Given the description of an element on the screen output the (x, y) to click on. 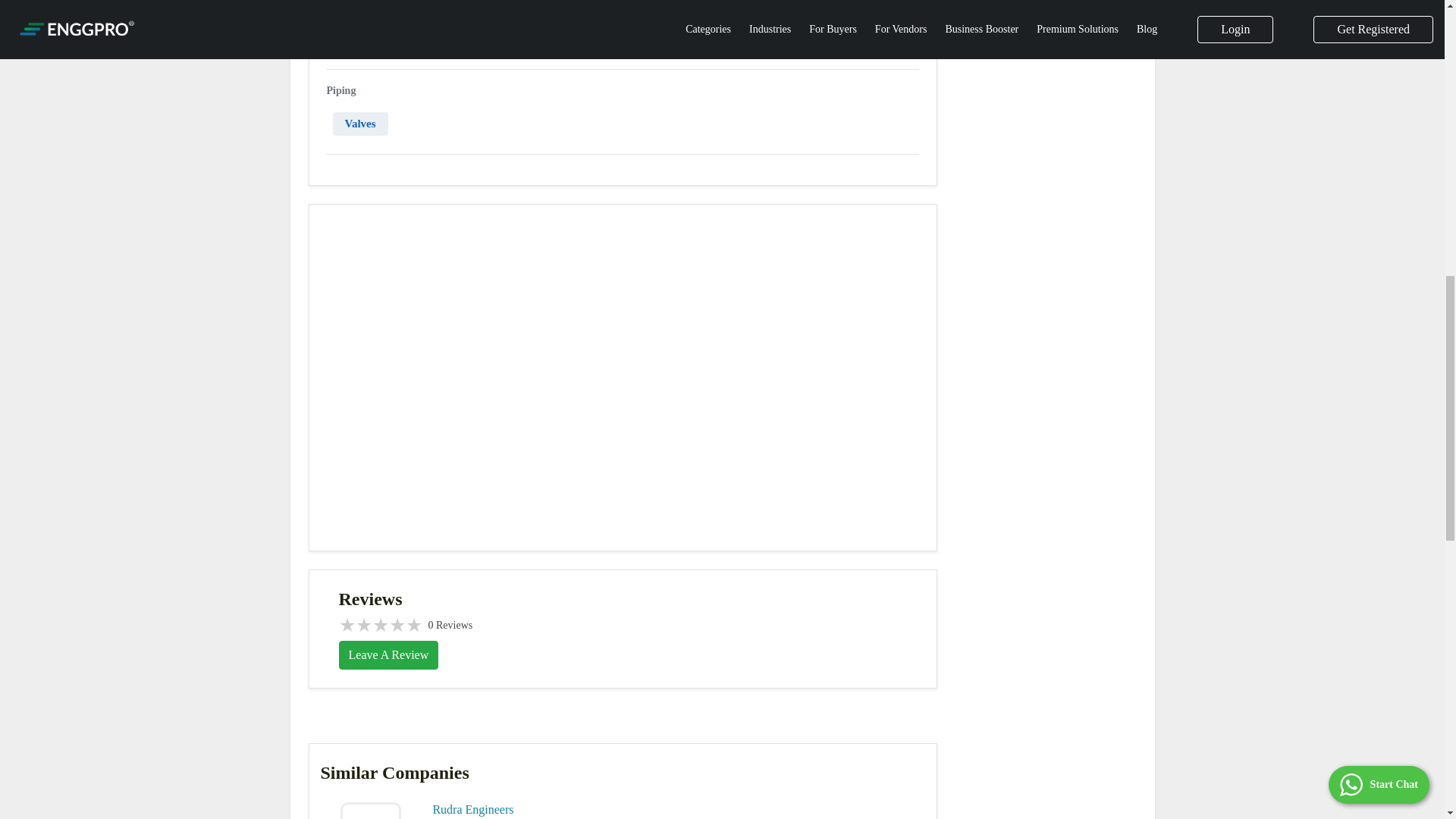
R (370, 810)
Rudra Engineers (472, 809)
Valves (359, 123)
Fan (465, 38)
Leave A Review (387, 654)
Cooling Towers (381, 38)
